Given the description of an element on the screen output the (x, y) to click on. 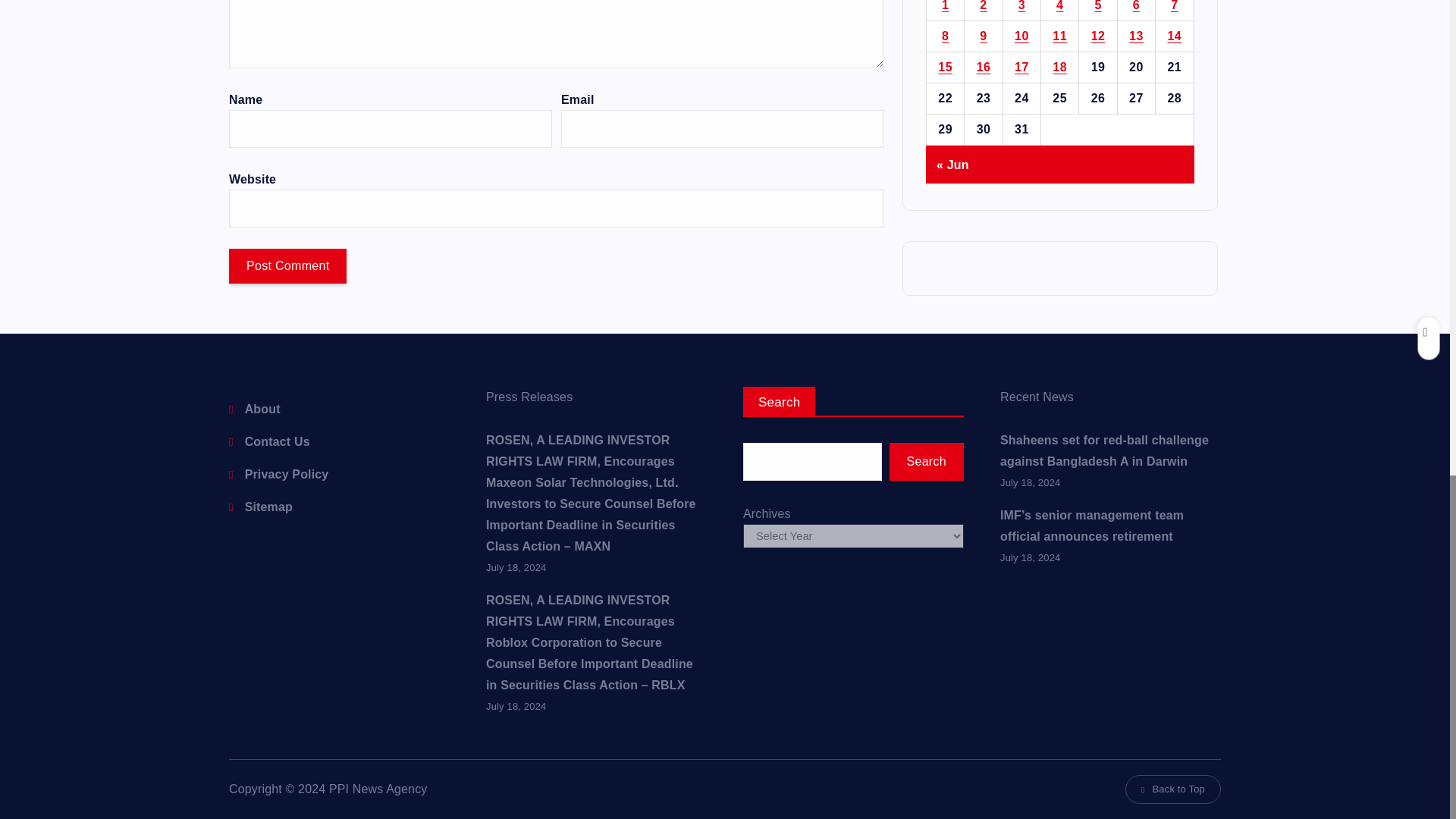
Post Comment (287, 265)
